Given the description of an element on the screen output the (x, y) to click on. 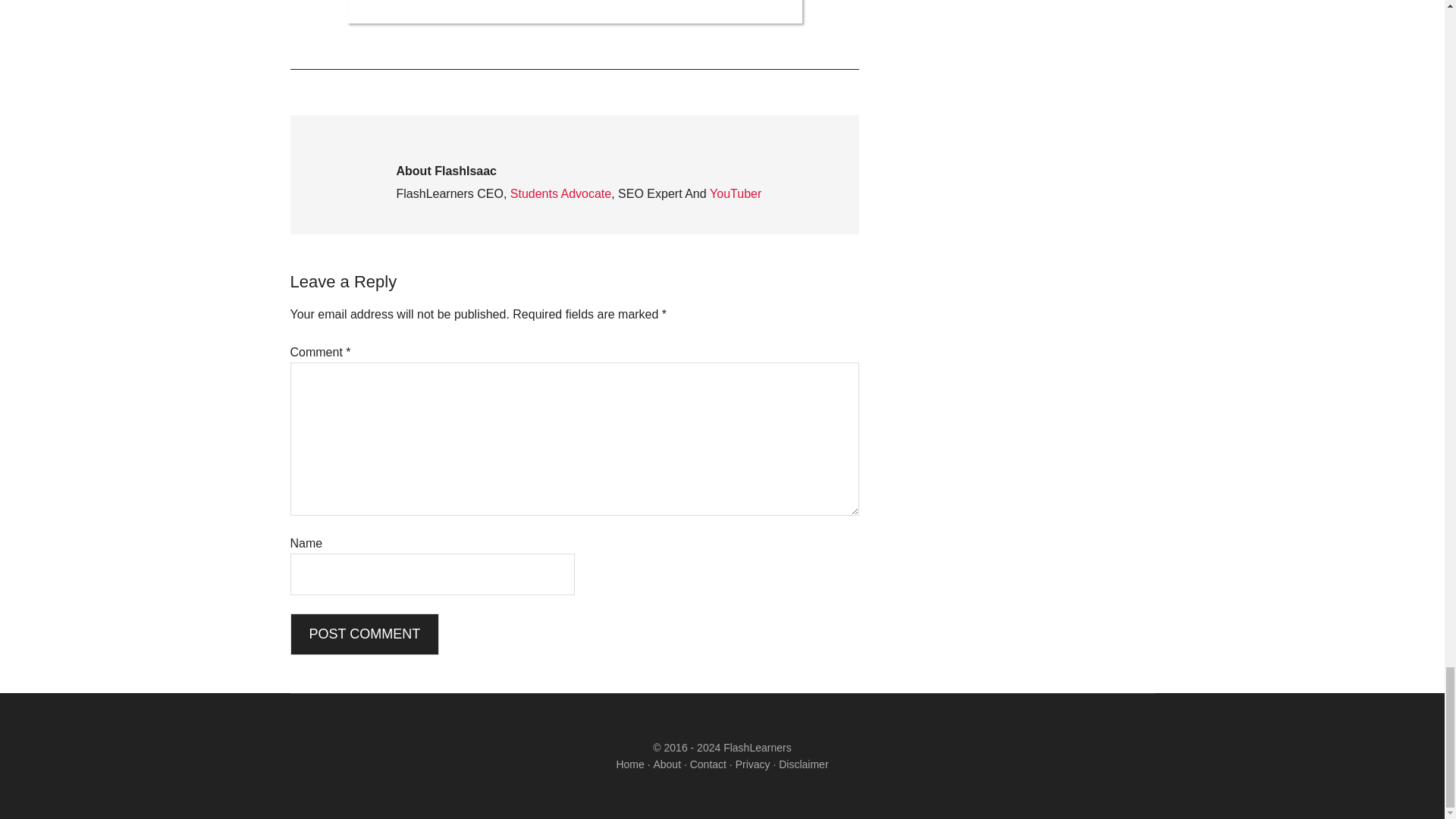
About (666, 764)
Post Comment (364, 634)
Home (629, 764)
Contact (708, 764)
YouTuber (735, 193)
Privacy (752, 764)
Post Comment (364, 634)
Students Advocate (561, 193)
Disclaimer (803, 764)
